Given the description of an element on the screen output the (x, y) to click on. 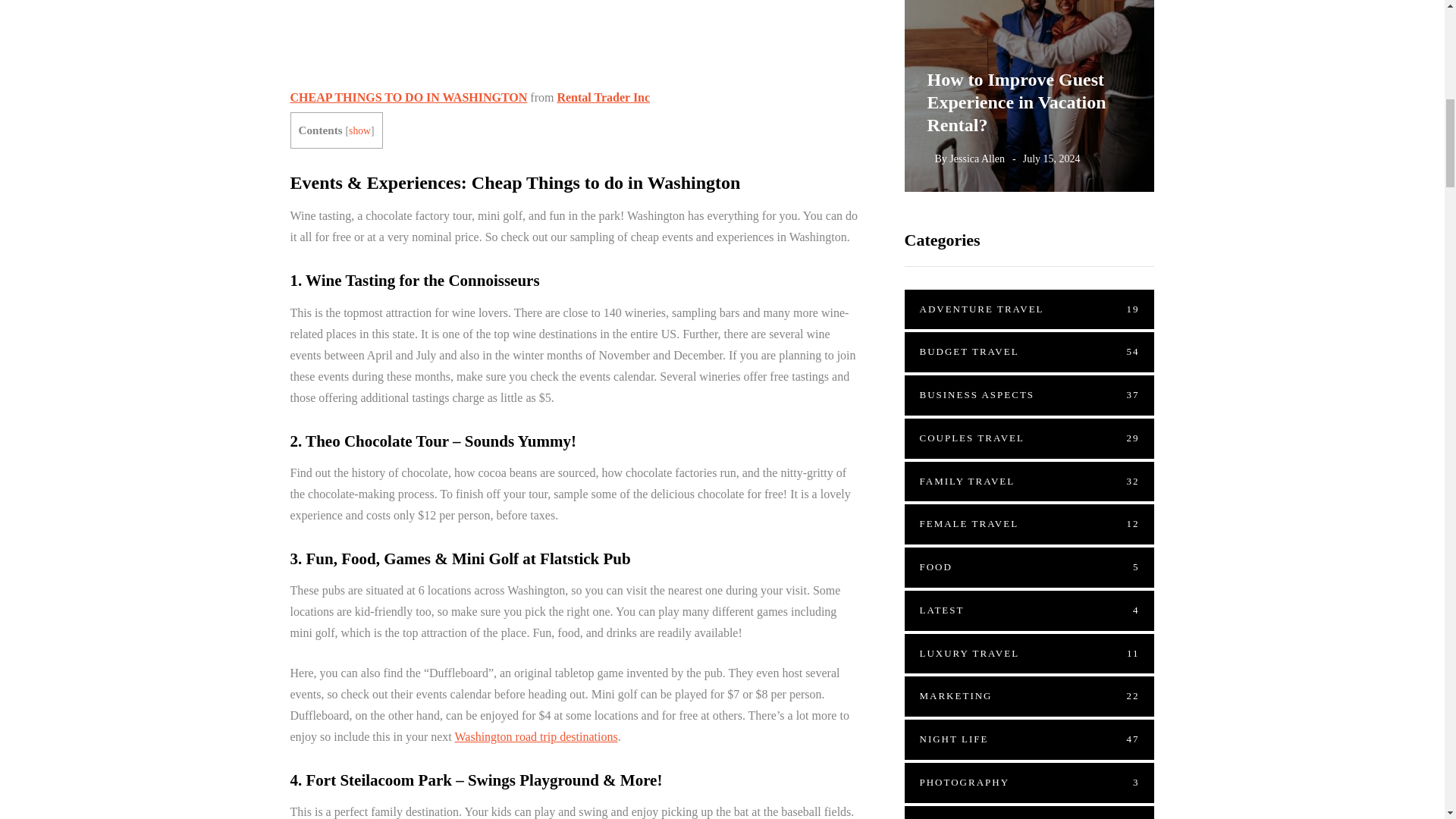
CHEAP THINGS TO DO IN WASHINGTON (408, 97)
show (360, 130)
Rental Trader Inc (602, 97)
CHEAP THINGS TO DO IN WASHINGTON (408, 97)
